Given the description of an element on the screen output the (x, y) to click on. 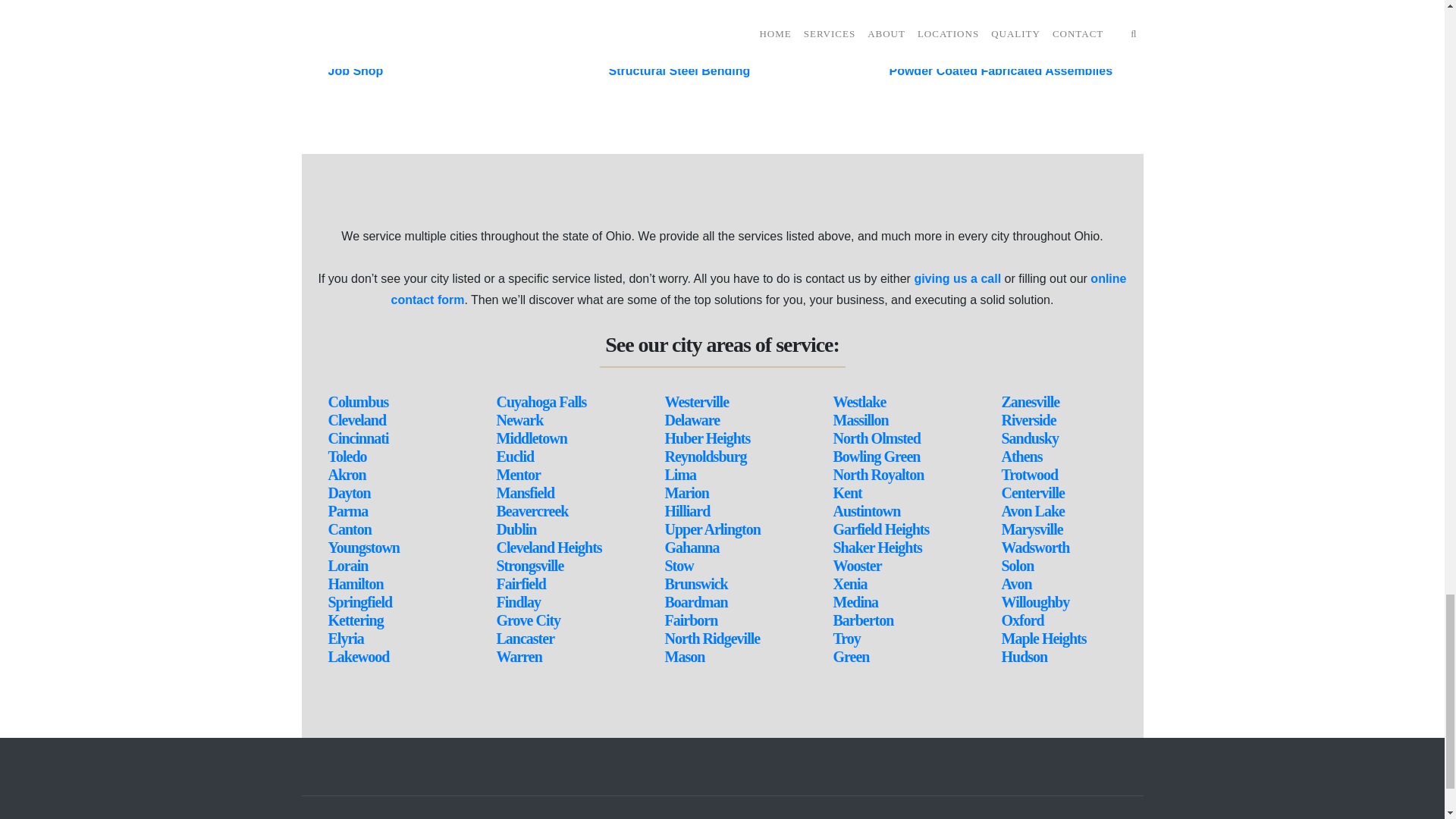
Structural Steel Bending (678, 70)
Press Brake Machine (669, 6)
Job Shop (354, 70)
Steel Bending (648, 49)
Sheet Metal Bending (667, 28)
Powder Coating (373, 6)
Contract Manufacturing (395, 49)
Fabricated Materials (386, 28)
